Given the description of an element on the screen output the (x, y) to click on. 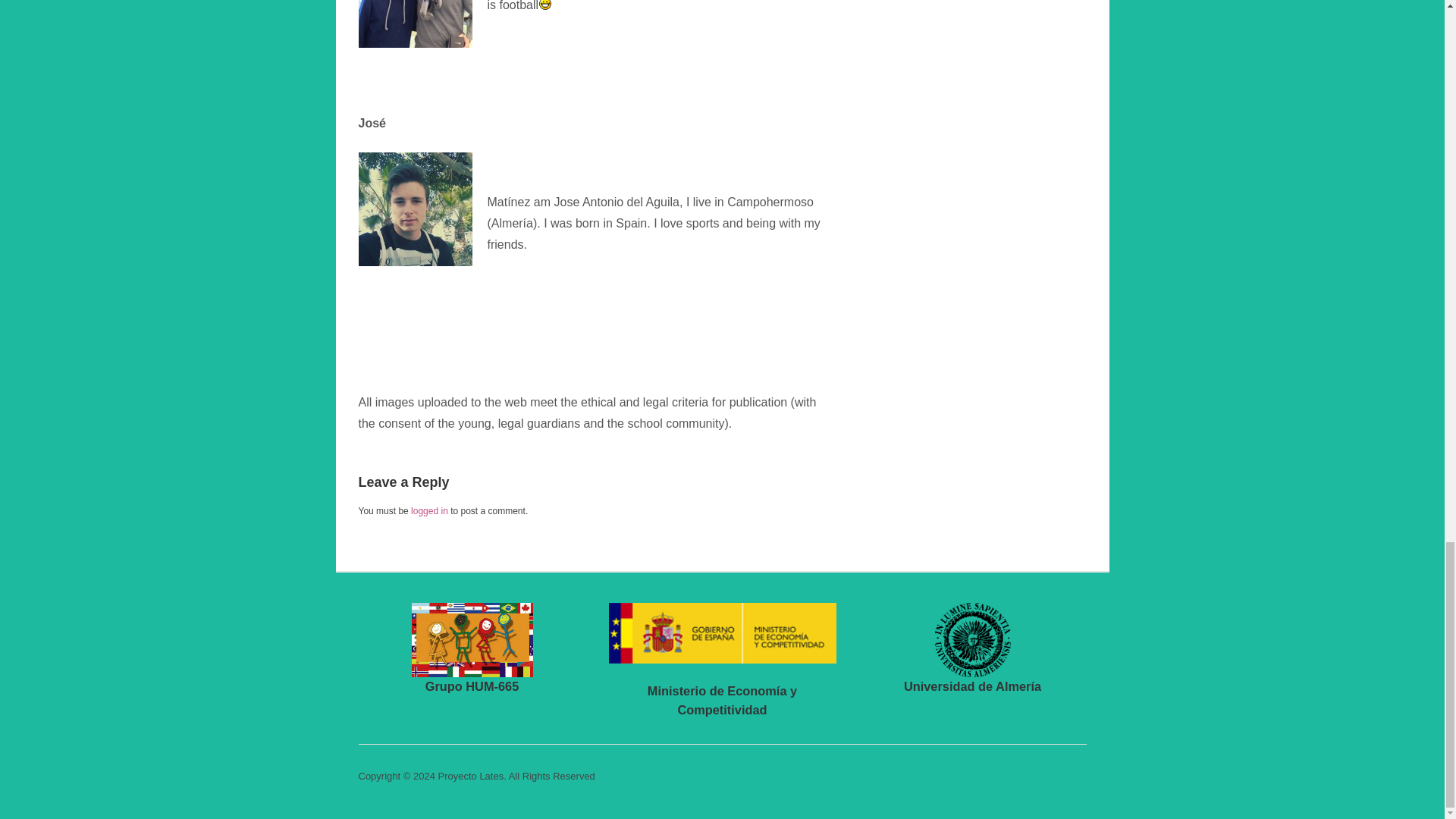
logged in (429, 511)
